Given the description of an element on the screen output the (x, y) to click on. 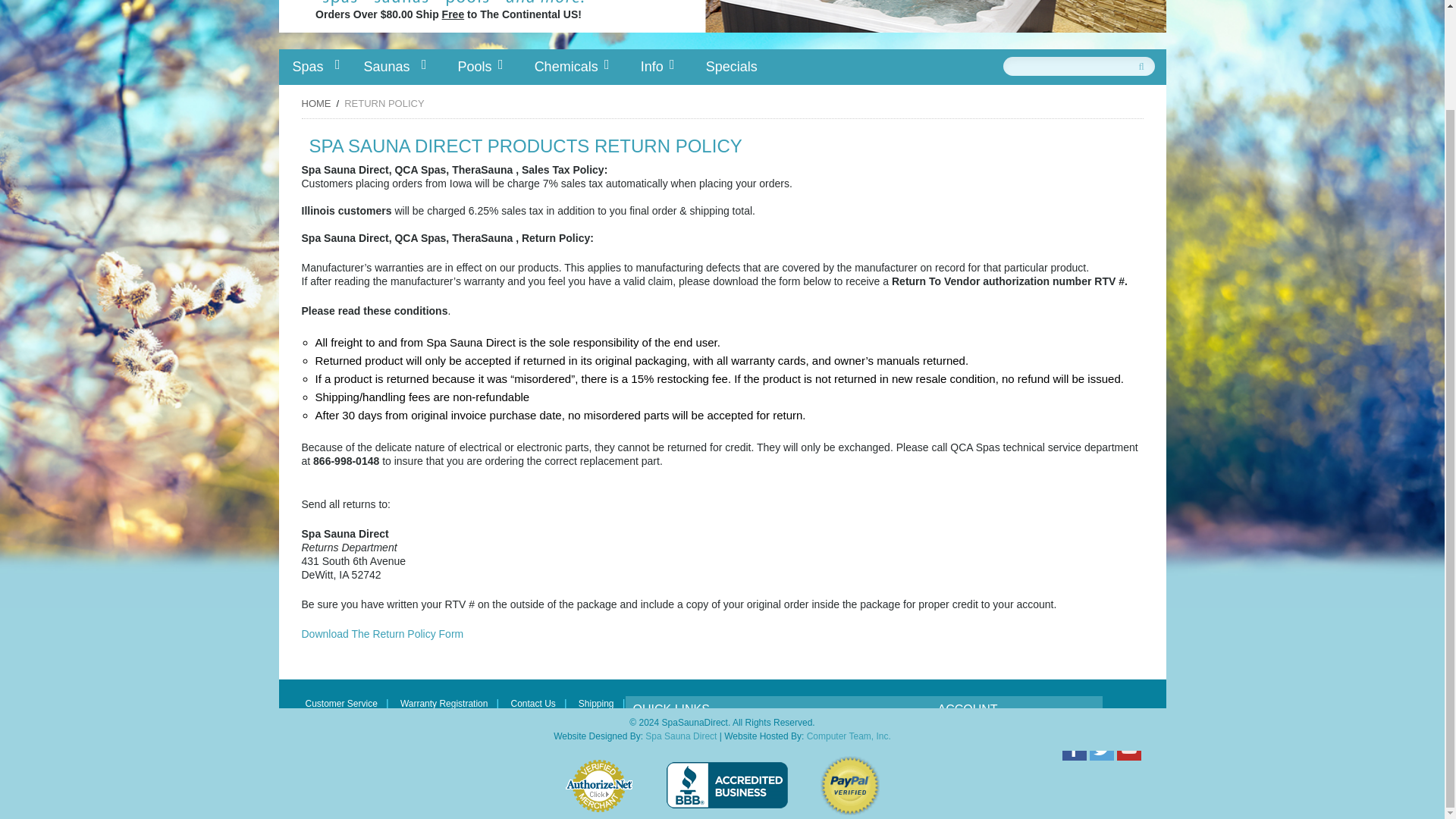
Shipping (596, 703)
Site Map (827, 730)
Pools (474, 66)
Authorize.net website (598, 785)
Orders and Returns (1050, 730)
My Account (964, 730)
Search (1142, 61)
Spas (314, 66)
Better Business Bureau website (726, 785)
Search Terms (665, 730)
Saunas (393, 66)
Testimonials (892, 730)
Advanced Search (750, 730)
Paypal website (850, 784)
Go to Home Page (316, 102)
